Given the description of an element on the screen output the (x, y) to click on. 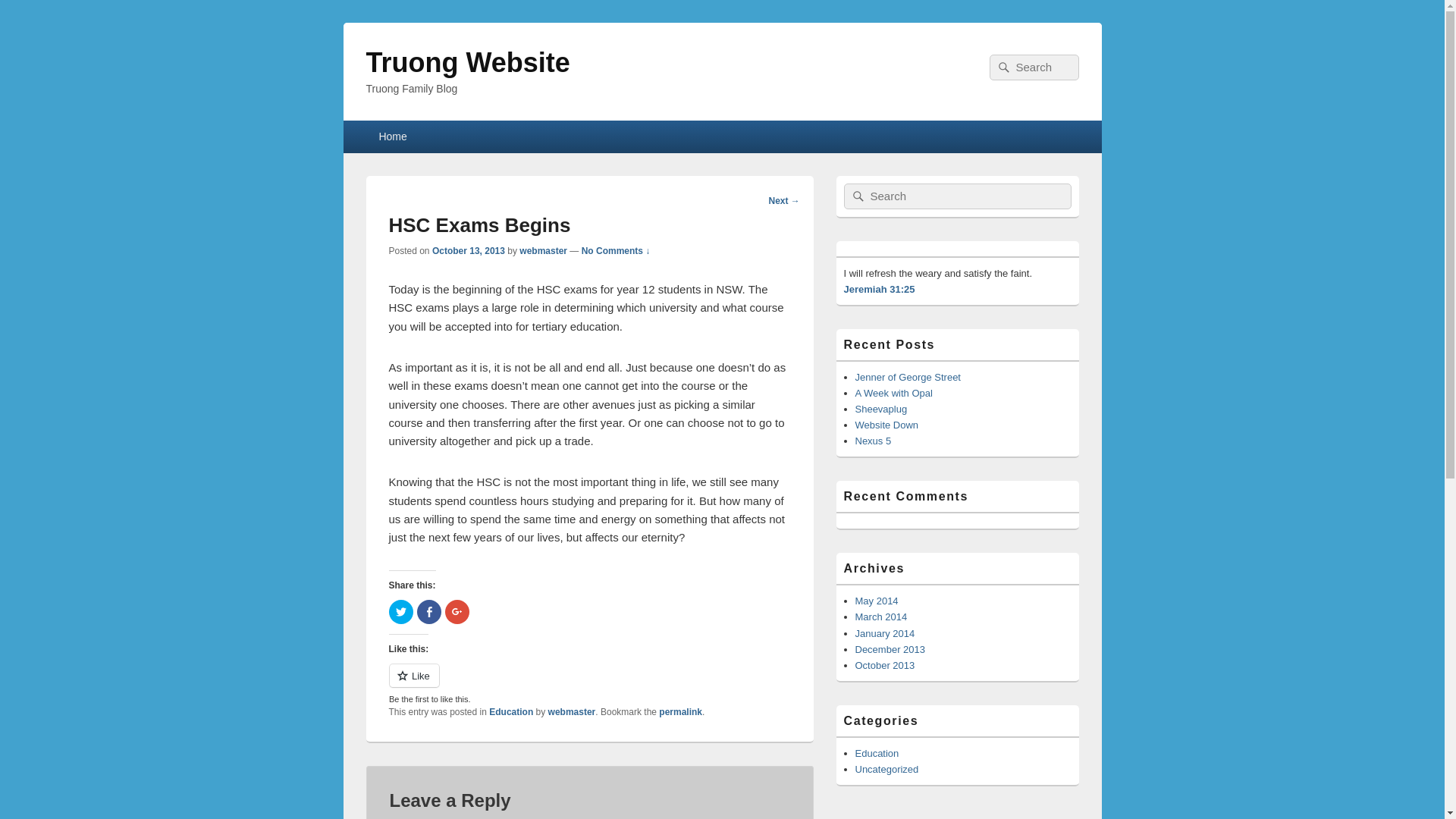
October 13, 2013 Element type: text (468, 250)
Uncategorized Element type: text (887, 769)
Jeremiah 31:25 Element type: text (878, 288)
Education Element type: text (877, 753)
December 2013 Element type: text (890, 649)
A Week with Opal Element type: text (893, 392)
Sheevaplug Element type: text (881, 408)
Click to share on Facebook (Opens in new window) Element type: text (429, 611)
webmaster Element type: text (572, 711)
Nexus 5 Element type: text (873, 440)
October 2013 Element type: text (885, 665)
Search Element type: text (856, 196)
Truong Website Element type: text (467, 62)
Education Element type: text (511, 711)
Jenner of George Street Element type: text (907, 376)
Search Element type: text (1001, 67)
permalink Element type: text (680, 711)
Home Element type: text (392, 136)
Search for: Element type: hover (956, 196)
January 2014 Element type: text (885, 633)
May 2014 Element type: text (876, 600)
Click to share on Google+ (Opens in new window) Element type: text (456, 611)
webmaster Element type: text (543, 250)
Click to share on Twitter (Opens in new window) Element type: text (400, 611)
March 2014 Element type: text (881, 616)
Website Down Element type: text (887, 424)
Search for: Element type: hover (1033, 67)
